Given the description of an element on the screen output the (x, y) to click on. 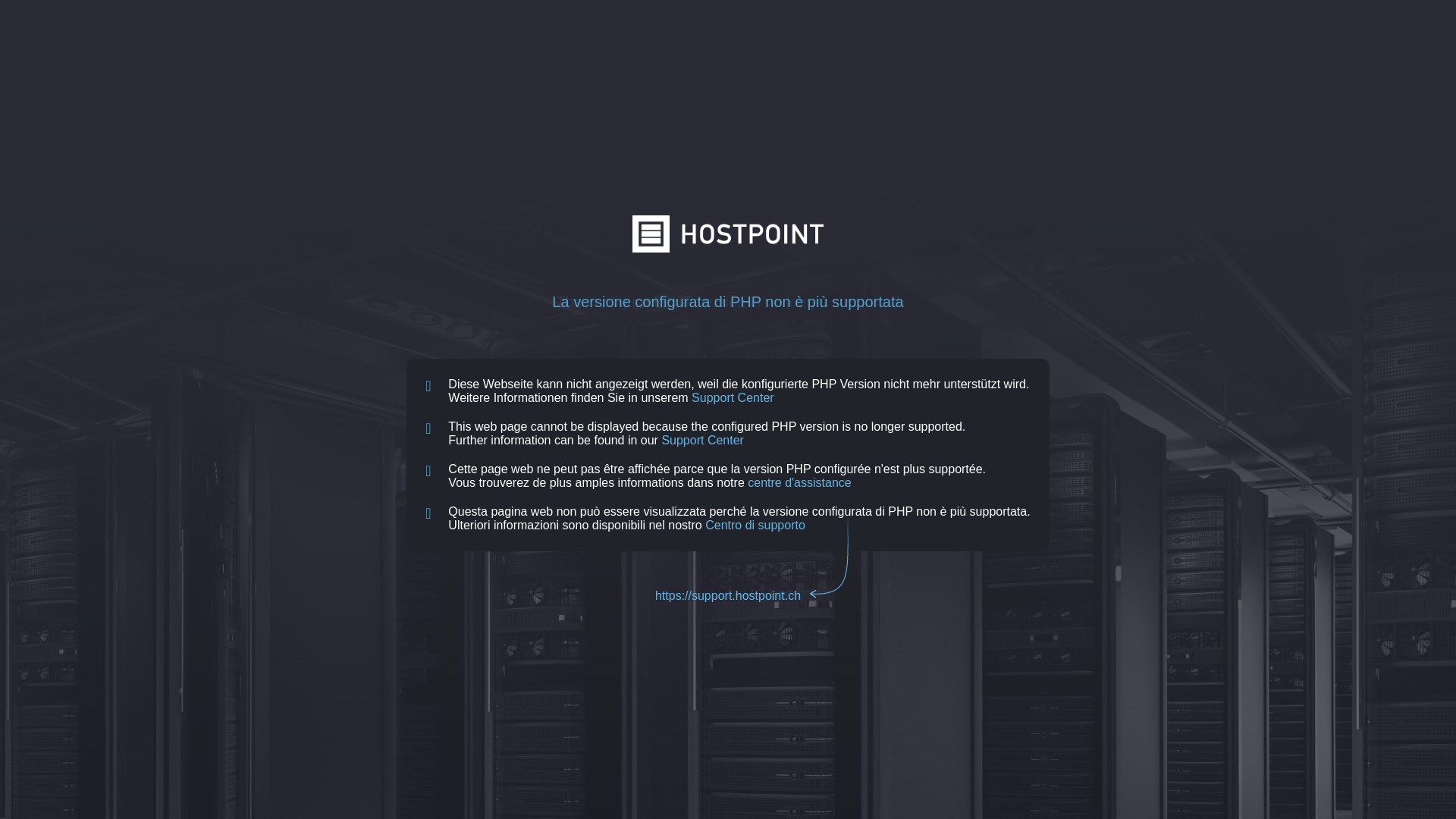
https://support.hostpoint.ch Element type: text (727, 595)
Centro di supporto Element type: text (755, 524)
Support Center Element type: text (732, 397)
centre d'assistance Element type: text (798, 482)
Support Center Element type: text (702, 439)
